Given the description of an element on the screen output the (x, y) to click on. 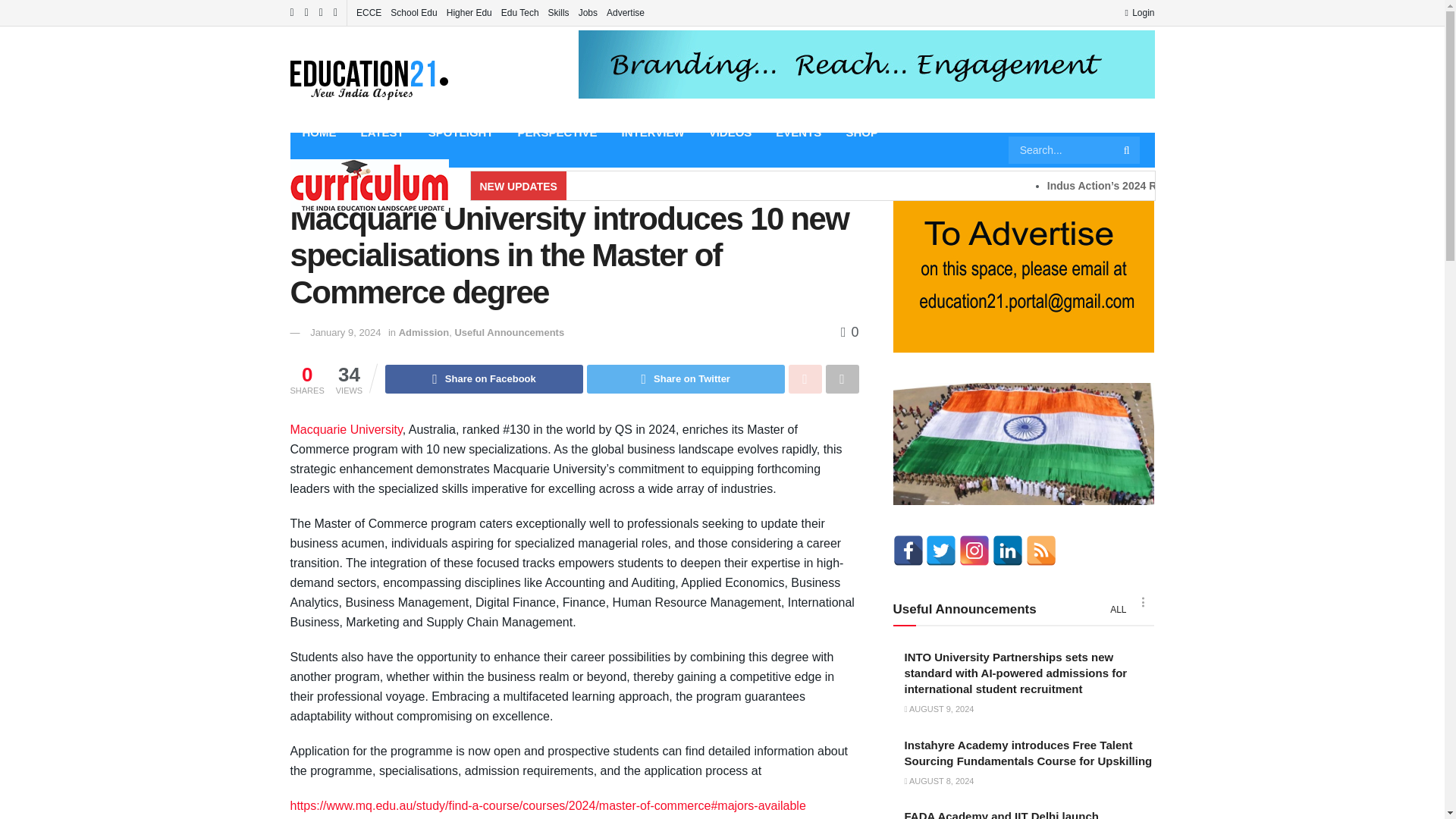
SHOP (860, 132)
INTERVIEW (653, 132)
RSS Feed (1041, 550)
Higher Edu (469, 12)
School Edu (413, 12)
VIDEOS (730, 132)
PERSPECTIVE (557, 132)
STUDENT KIOSK (348, 167)
Instagram (974, 550)
ECCE (368, 12)
